Given the description of an element on the screen output the (x, y) to click on. 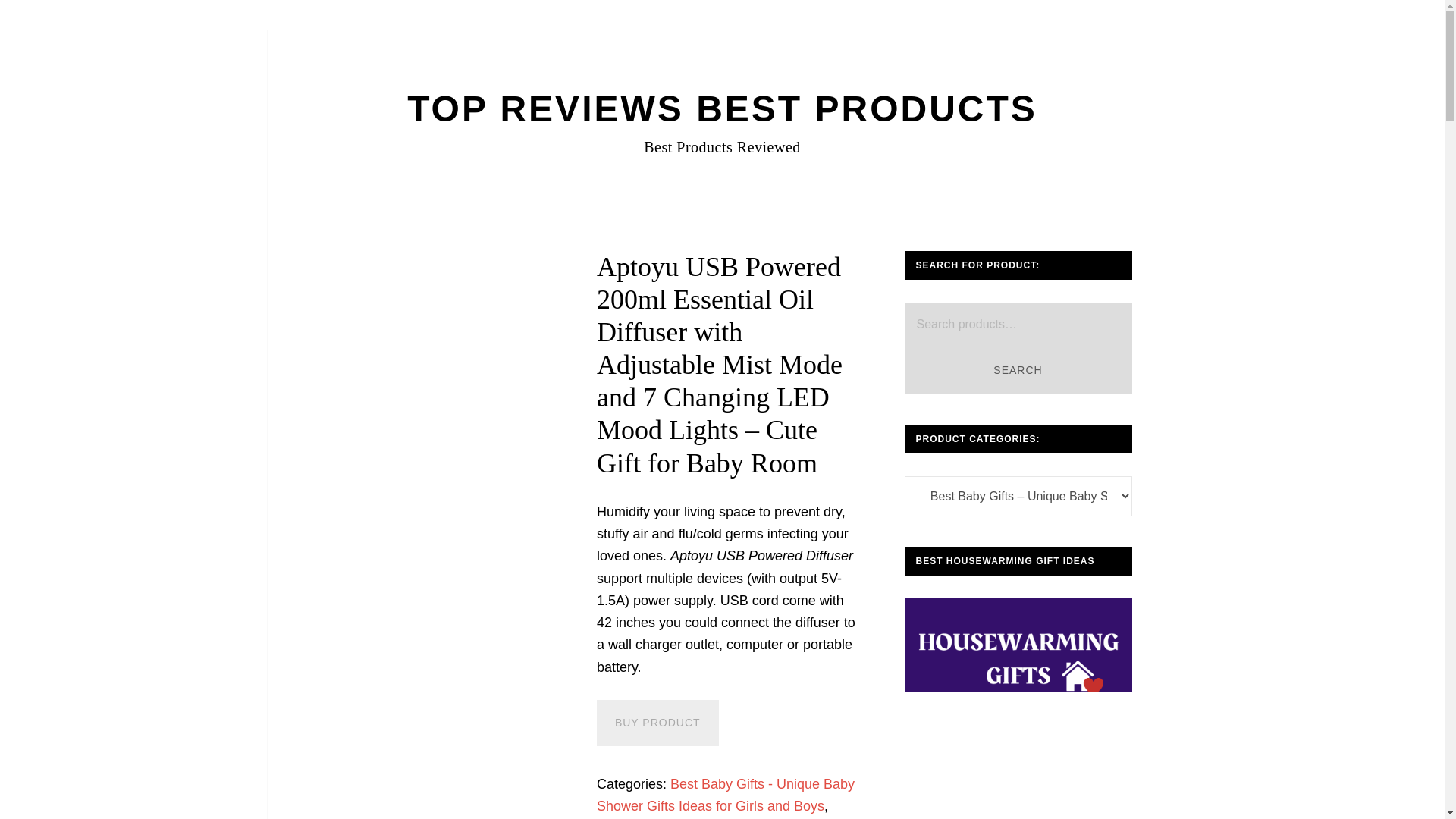
SEARCH (1017, 369)
BUY PRODUCT (657, 723)
TOP REVIEWS BEST PRODUCTS (721, 108)
